Given the description of an element on the screen output the (x, y) to click on. 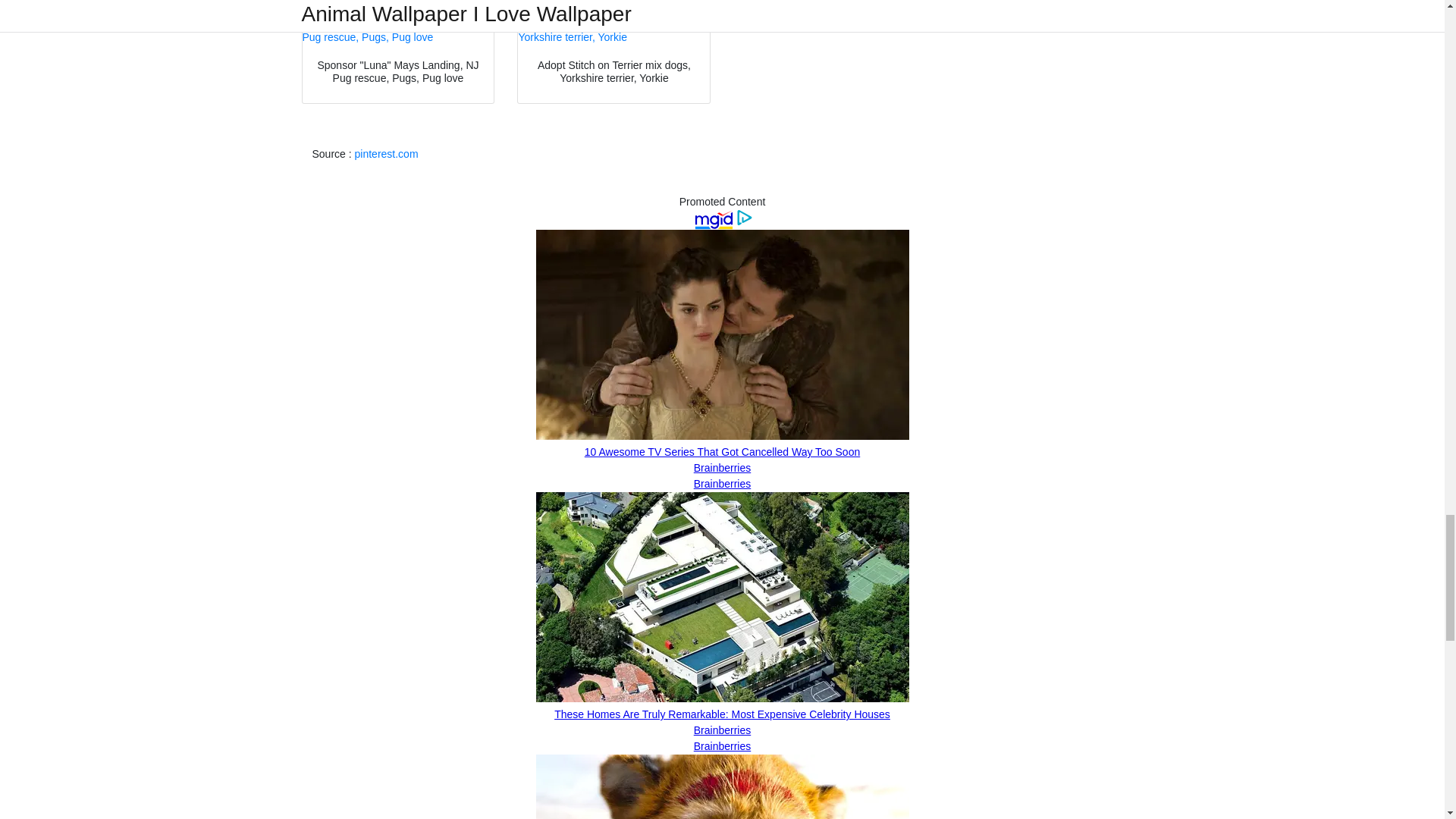
pinterest.com (387, 153)
